Given the description of an element on the screen output the (x, y) to click on. 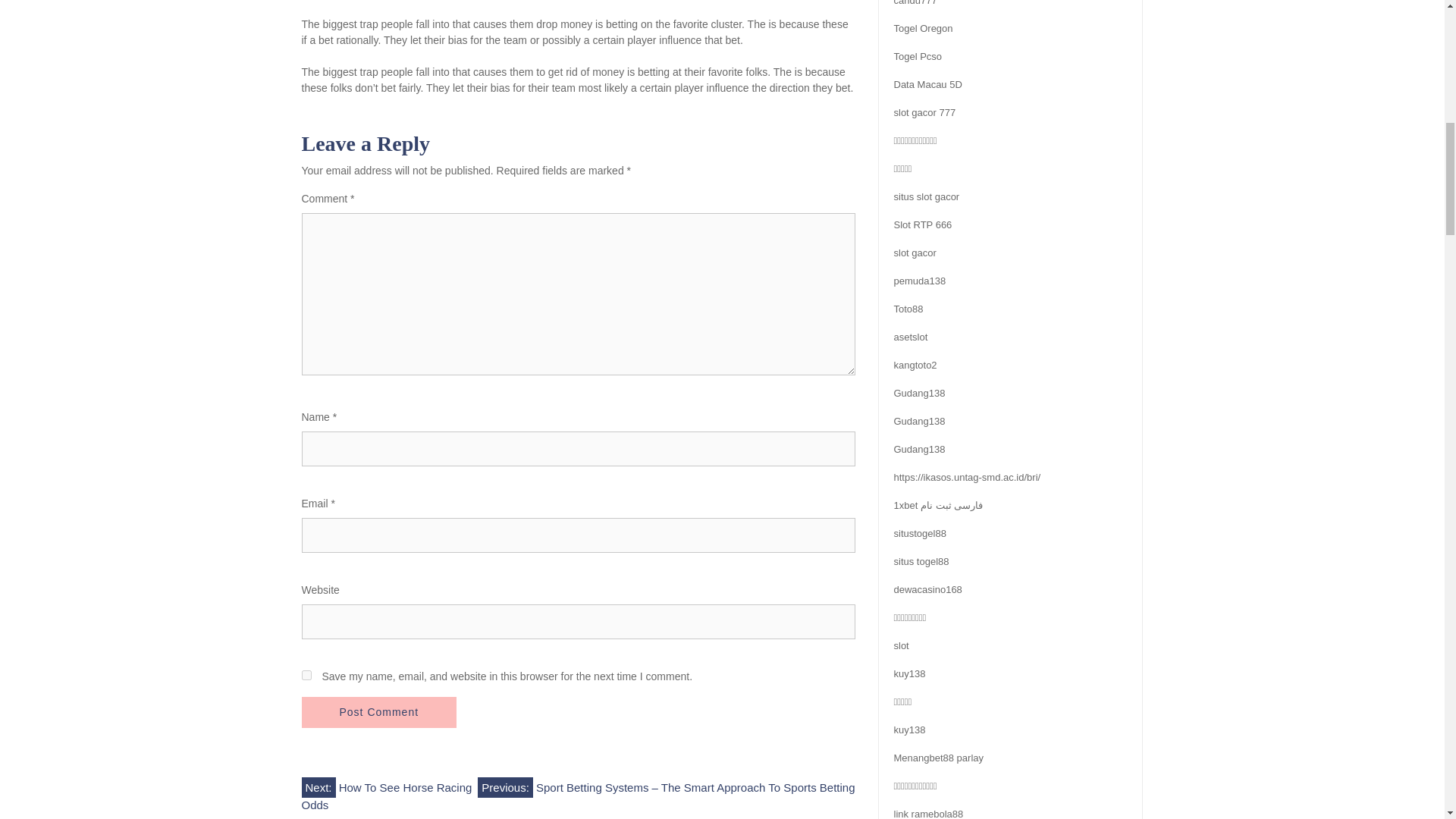
Next: How To See Horse Racing Odds (386, 794)
Data Macau 5D (926, 84)
candu777 (914, 2)
slot gacor 777 (924, 112)
Togel Oregon (922, 28)
Post Comment (379, 712)
Post Comment (379, 712)
yes (306, 675)
Togel Pcso (917, 56)
situs slot gacor (926, 196)
